Given the description of an element on the screen output the (x, y) to click on. 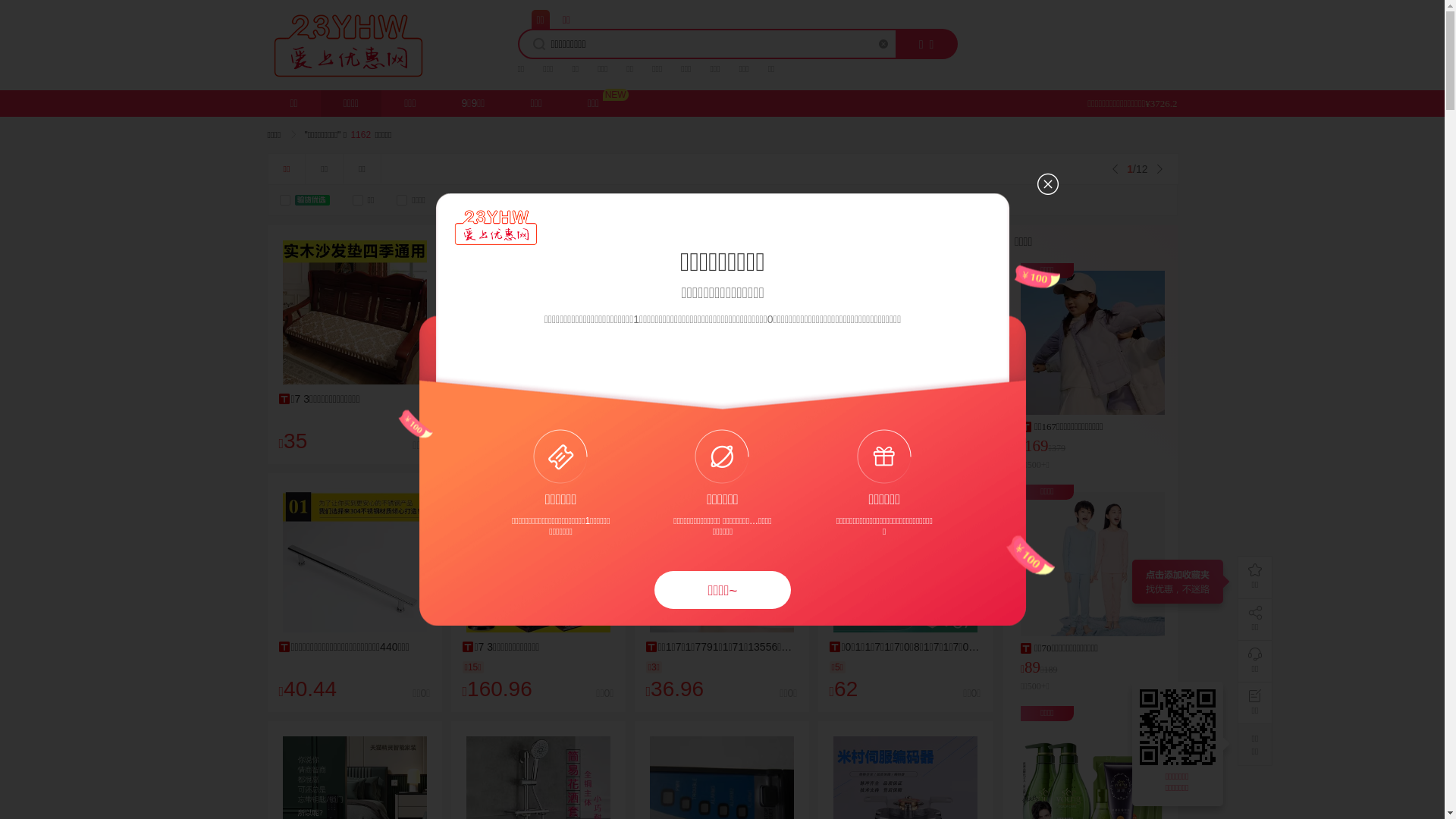
http://23yhw.com Element type: hover (1179, 727)
